Given the description of an element on the screen output the (x, y) to click on. 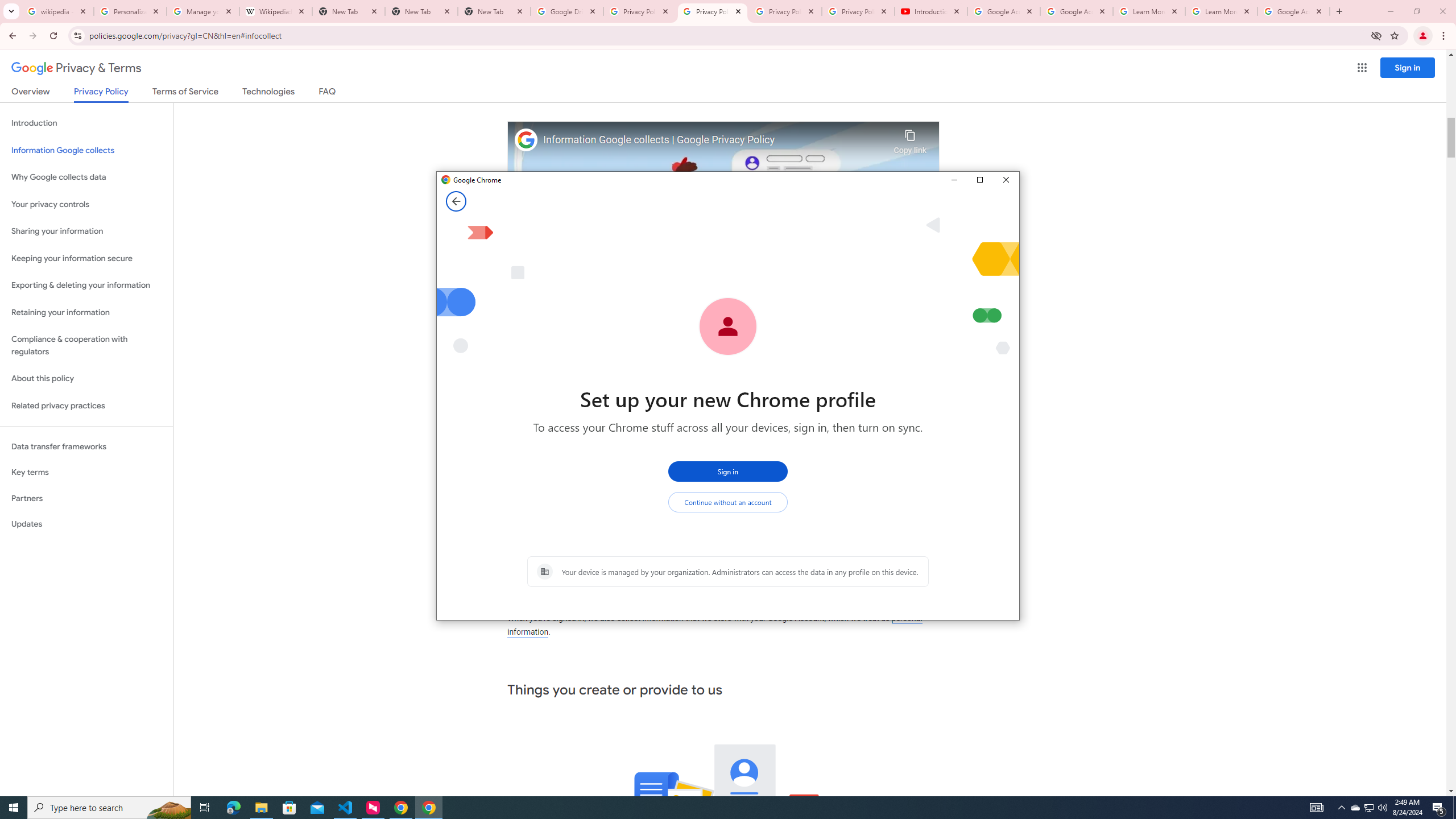
Google Chrome - 1 running window (428, 807)
Back from Set up your new Chrome profile page (455, 200)
User Promoted Notification Area (1368, 807)
Information Google collects (86, 150)
Google Drive: Sign-in (566, 11)
Maximize (979, 180)
AutomationID: 4105 (1316, 807)
Google Account Help (1076, 11)
Terms of Service (184, 93)
